Given the description of an element on the screen output the (x, y) to click on. 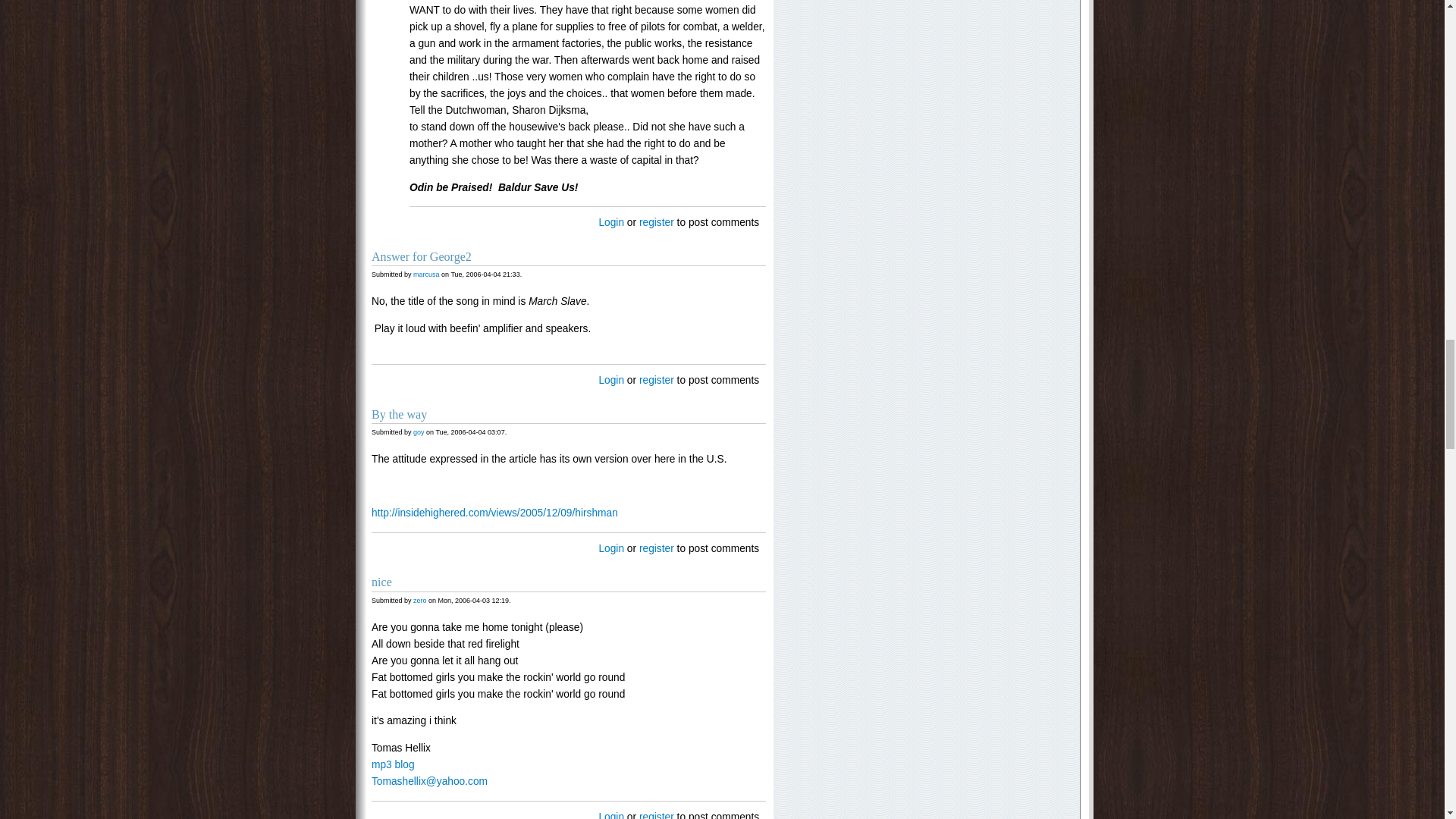
Login (611, 379)
register (656, 222)
register (656, 379)
Login (611, 222)
marcusa (426, 274)
Answer for George2 (421, 256)
By the way (398, 413)
